Given the description of an element on the screen output the (x, y) to click on. 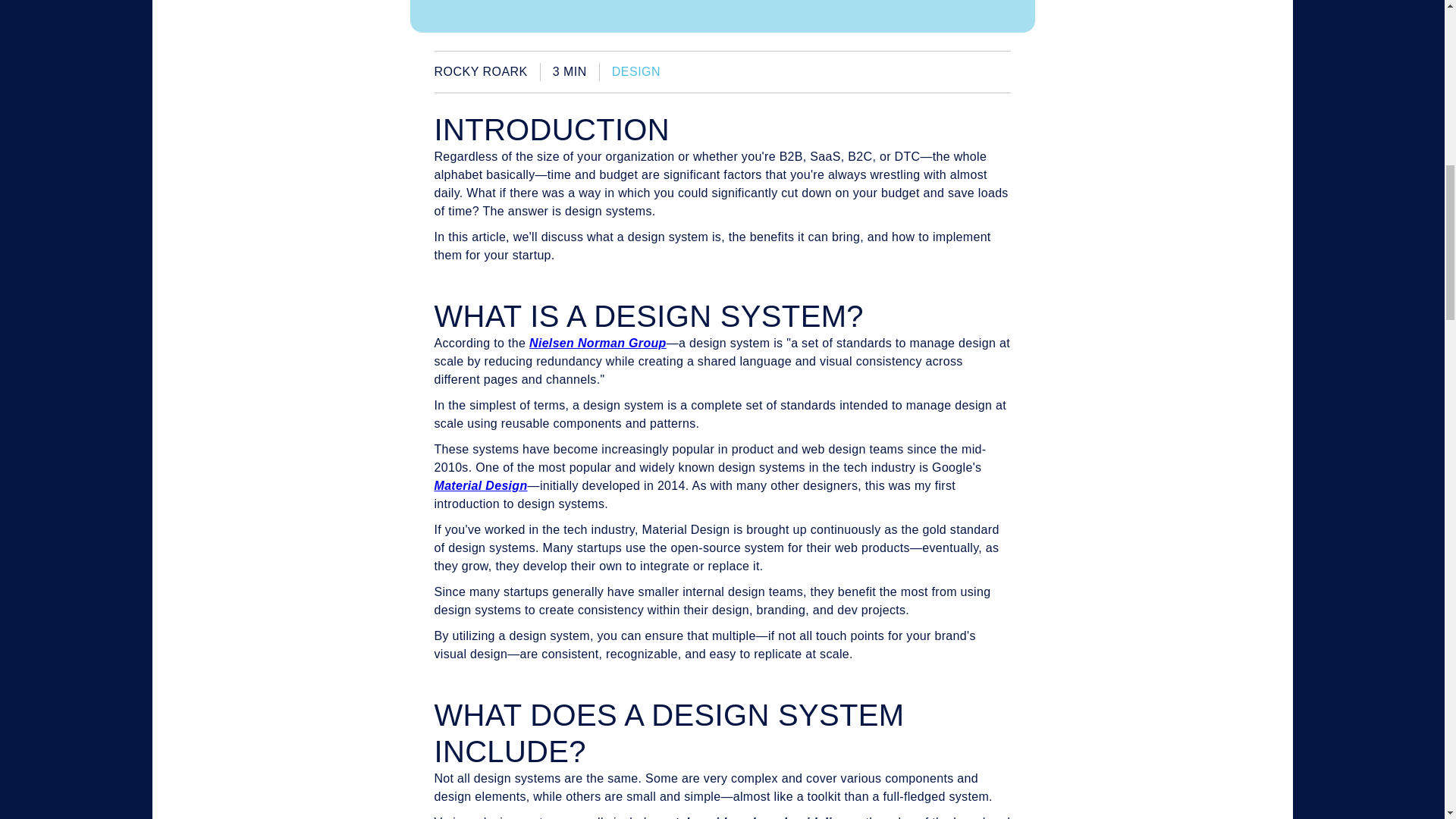
Material Design (480, 485)
Nielsen Norman Group (597, 342)
